Given the description of an element on the screen output the (x, y) to click on. 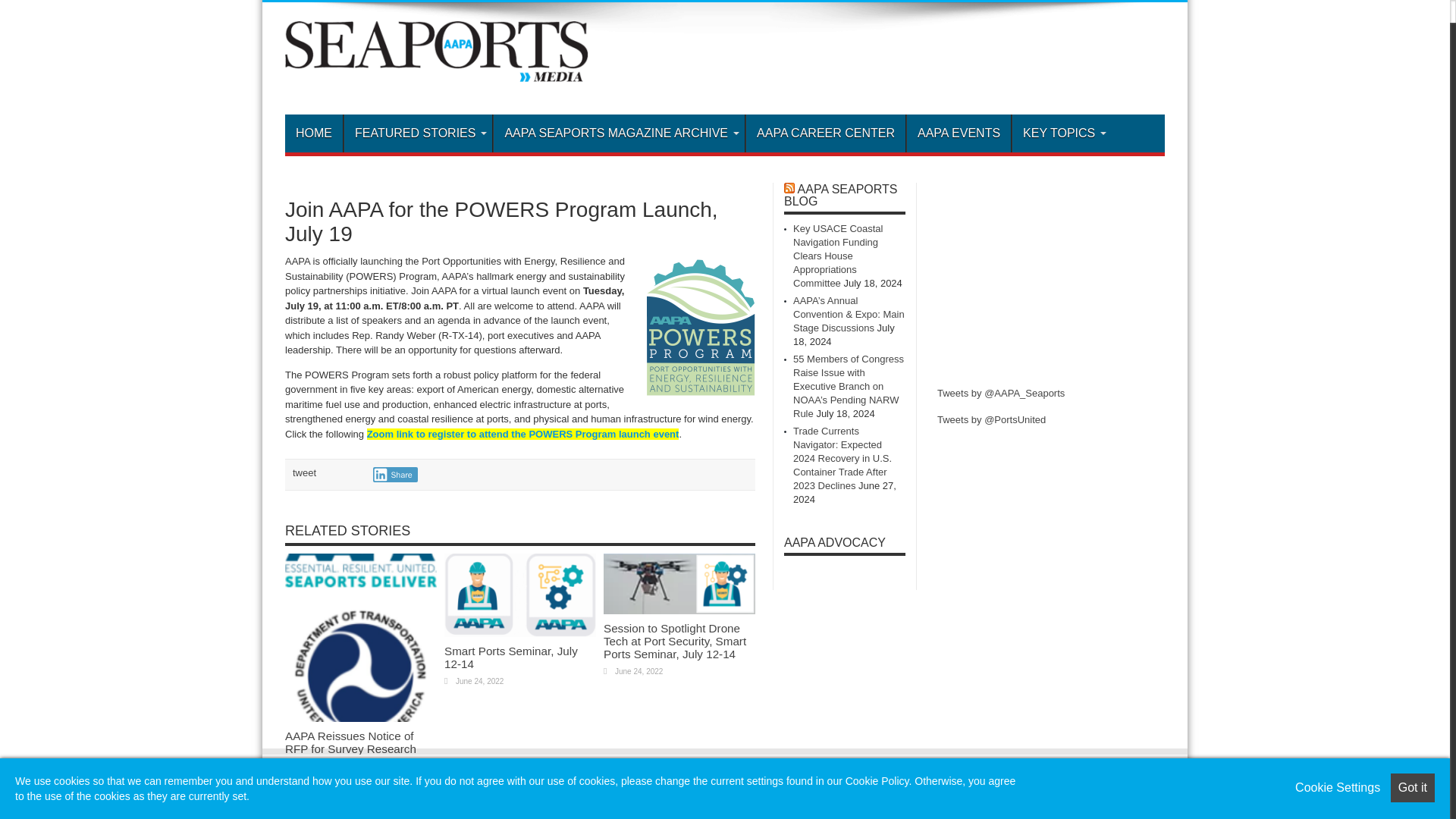
Permalink to Smart Ports Seminar, July 12-14 (511, 657)
HOME (313, 133)
AAPA EVENTS (957, 133)
3rd party ad content (888, 61)
AAPA Seaports (436, 70)
Permalink to Smart Ports Seminar, July 12-14 (519, 633)
3rd party ad content (1050, 277)
KEY TOPICS (1061, 133)
AAPA SEAPORTS MAGAZINE ARCHIVE (618, 133)
FEATURED STORIES (417, 133)
AAPA CAREER CENTER (825, 133)
